Given the description of an element on the screen output the (x, y) to click on. 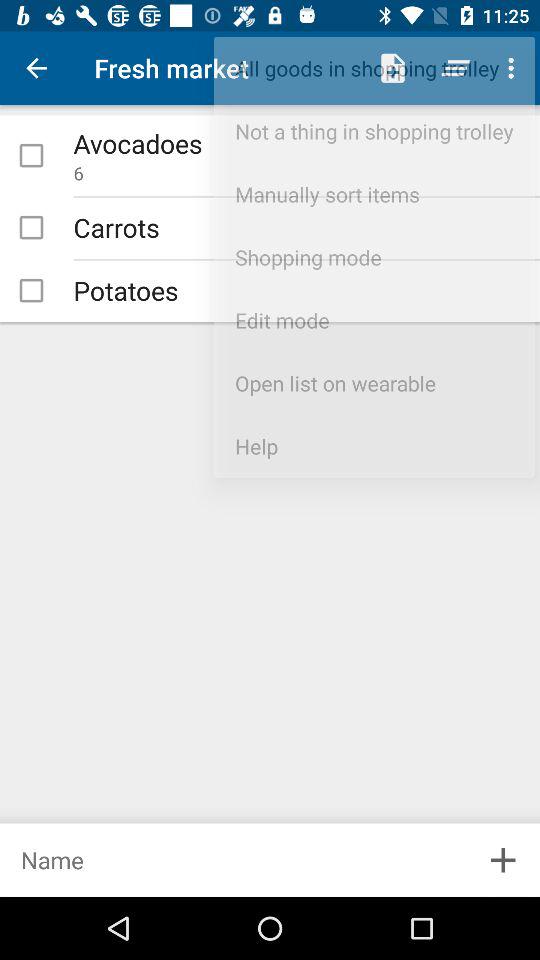
check mark item (31, 155)
